Given the description of an element on the screen output the (x, y) to click on. 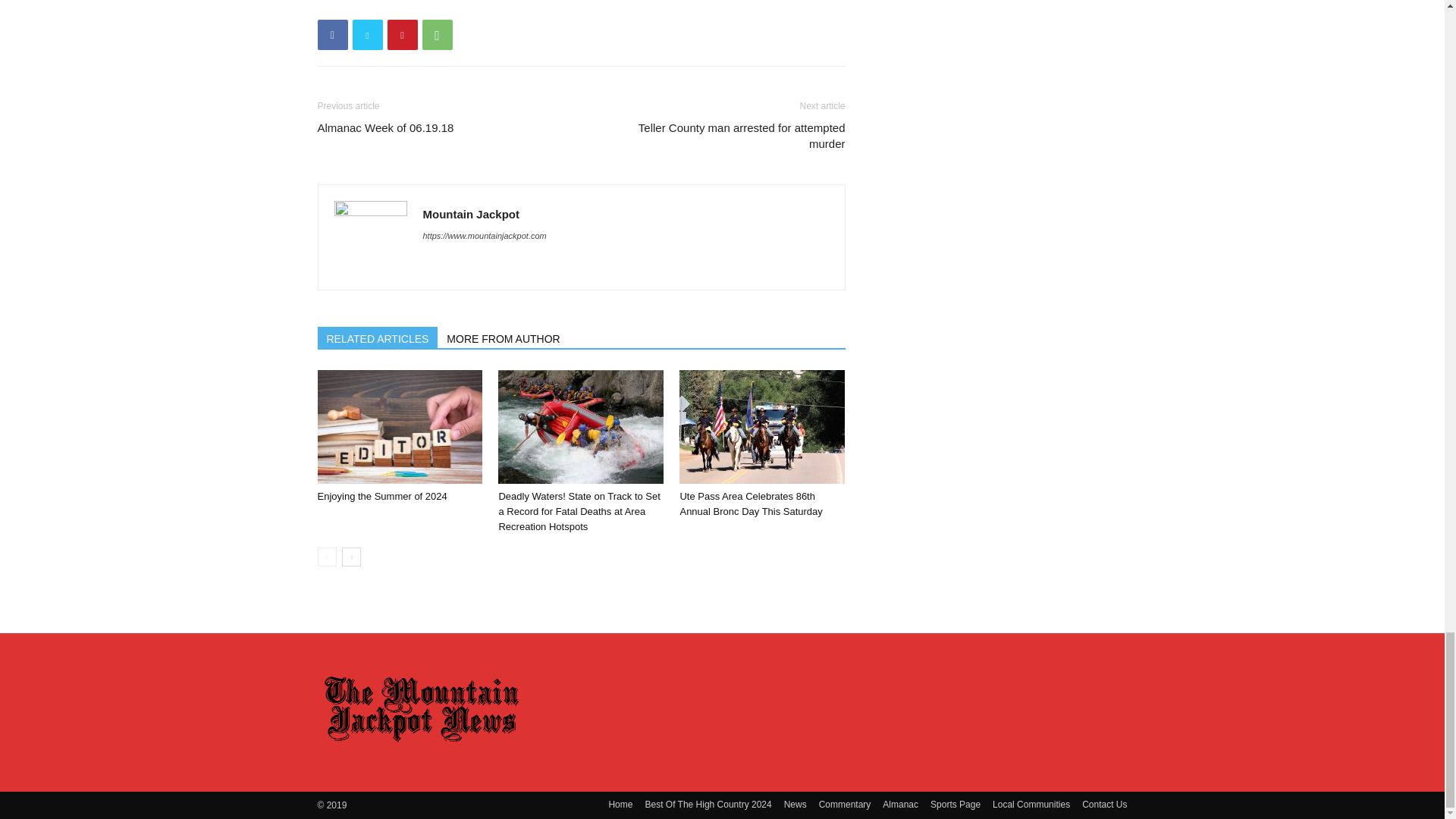
Facebook (332, 34)
Pinterest (401, 34)
Twitter (366, 34)
WhatsApp (436, 34)
Enjoying the Summer of 2024 (399, 427)
